Given the description of an element on the screen output the (x, y) to click on. 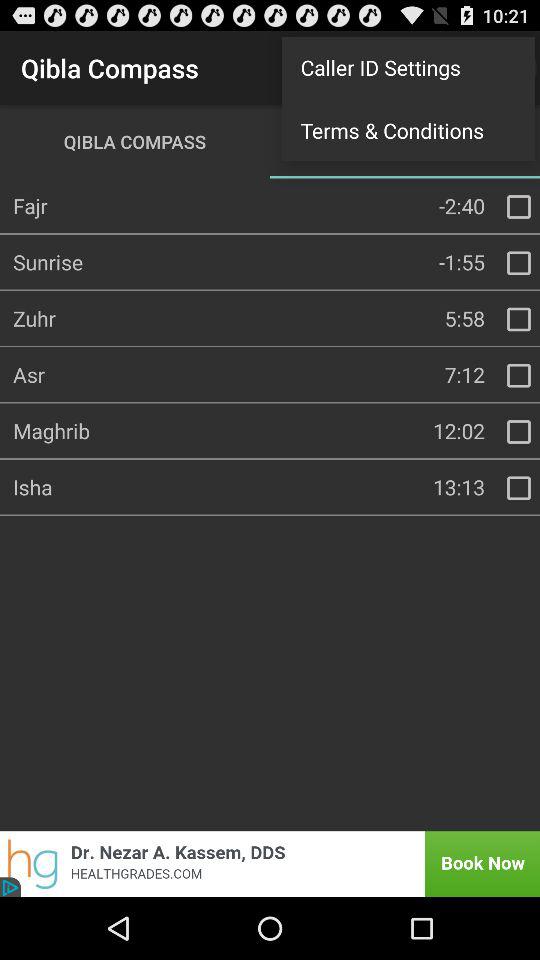
button image (519, 432)
